Given the description of an element on the screen output the (x, y) to click on. 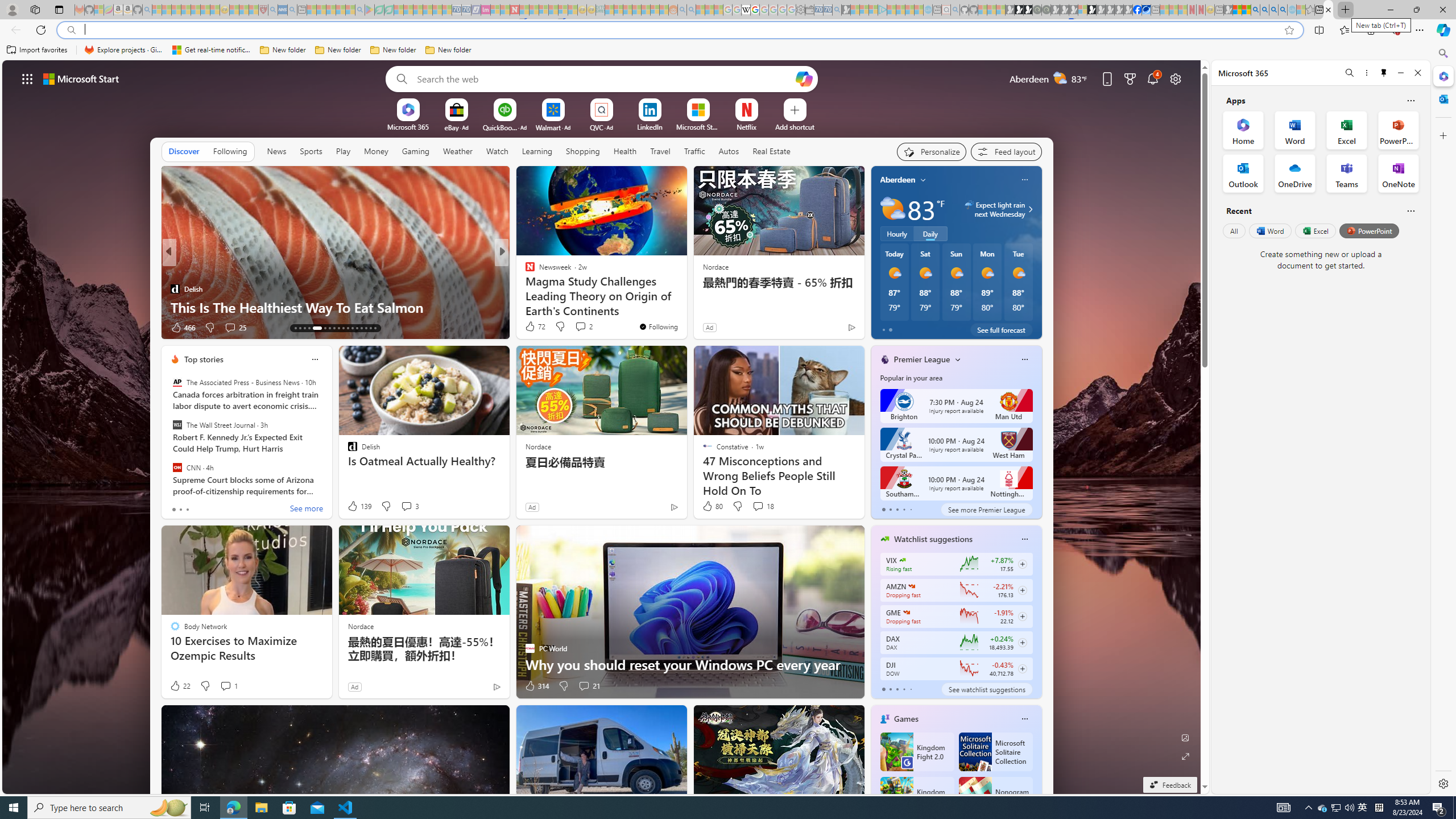
Play (342, 151)
AutomationID: tab-13 (295, 328)
Target page - Wikipedia (745, 9)
AMAZON.COM, INC. (911, 586)
311 Like (532, 327)
AutomationID: tab-27 (366, 328)
My location (922, 179)
github - Search - Sleeping (954, 9)
Autos (728, 151)
Gaming (415, 151)
PowerPoint Office App (1398, 129)
